Given the description of an element on the screen output the (x, y) to click on. 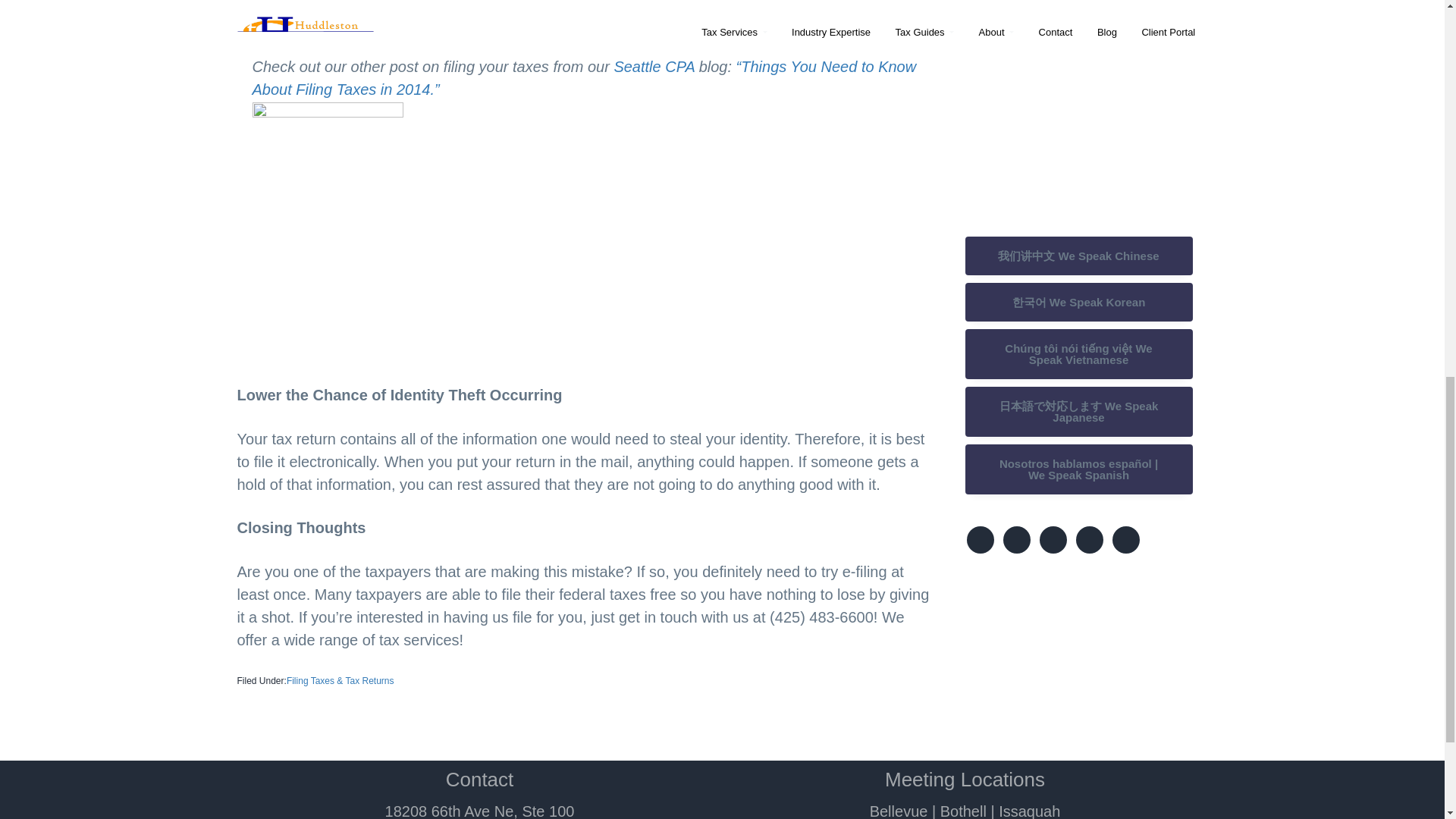
Seattle CPA (653, 66)
